Given the description of an element on the screen output the (x, y) to click on. 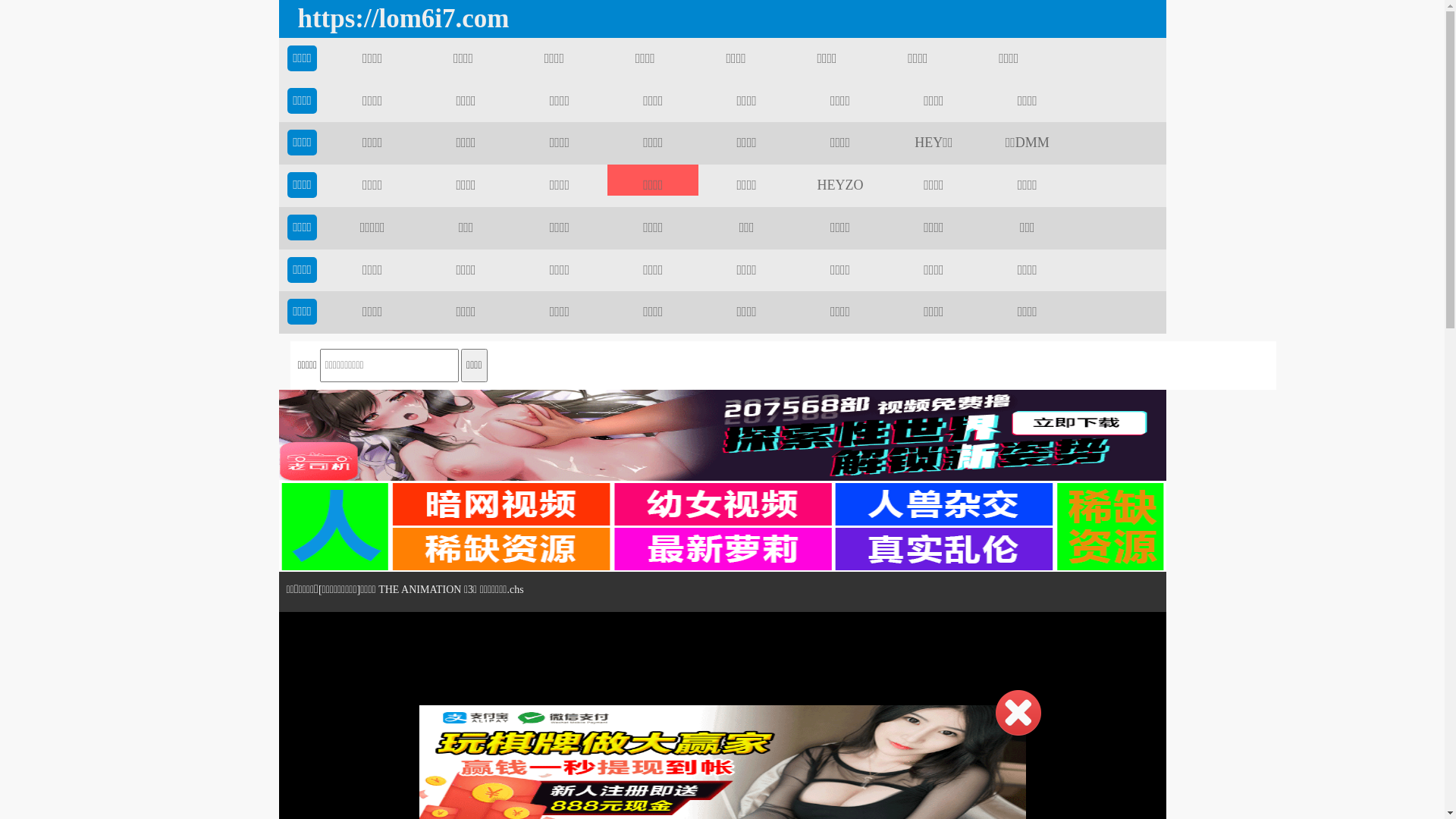
https://lom6i7.com Element type: text (398, 18)
HEYZO Element type: text (840, 184)
